Given the description of an element on the screen output the (x, y) to click on. 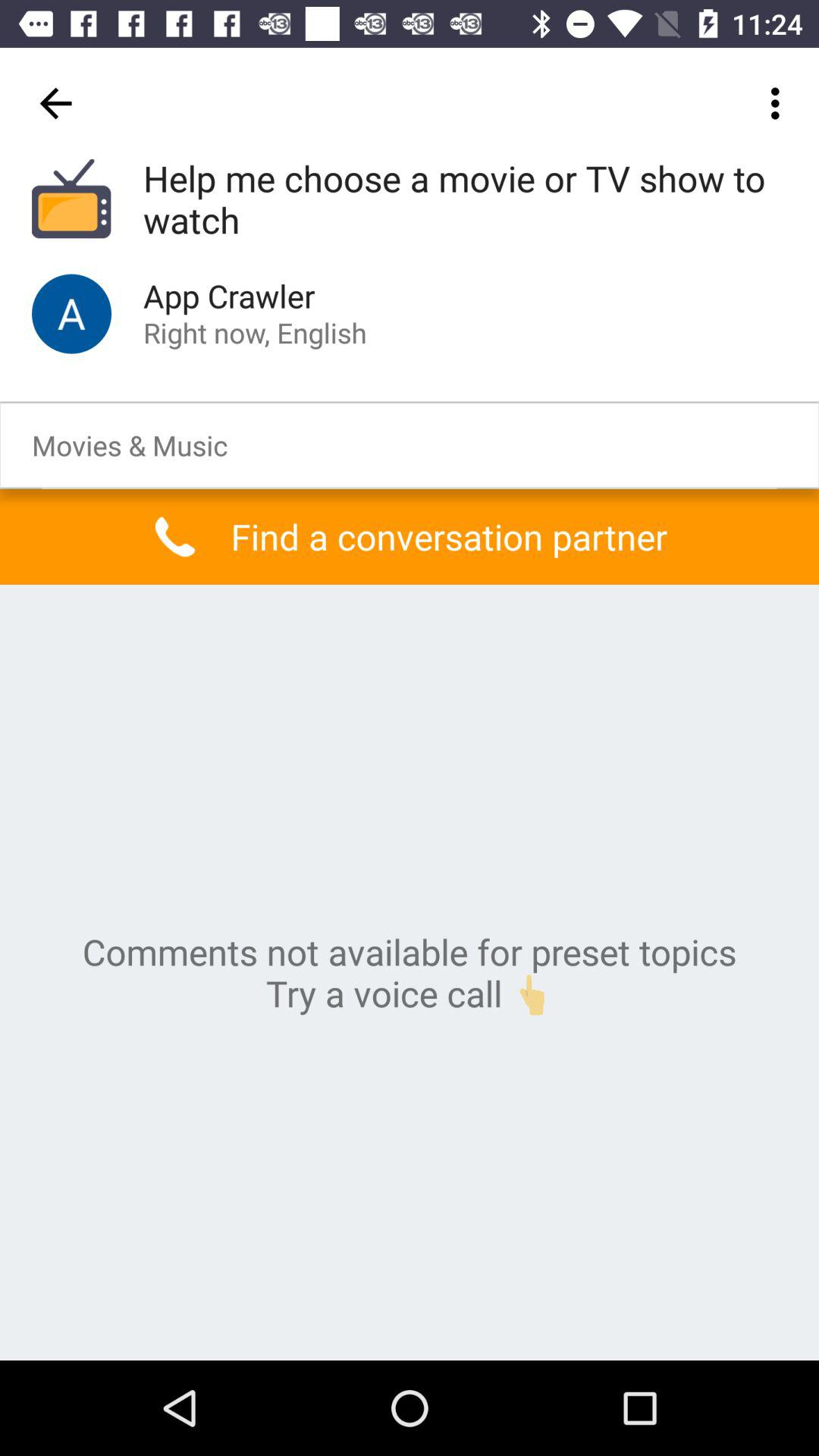
tap icon next to the app crawler item (71, 313)
